Given the description of an element on the screen output the (x, y) to click on. 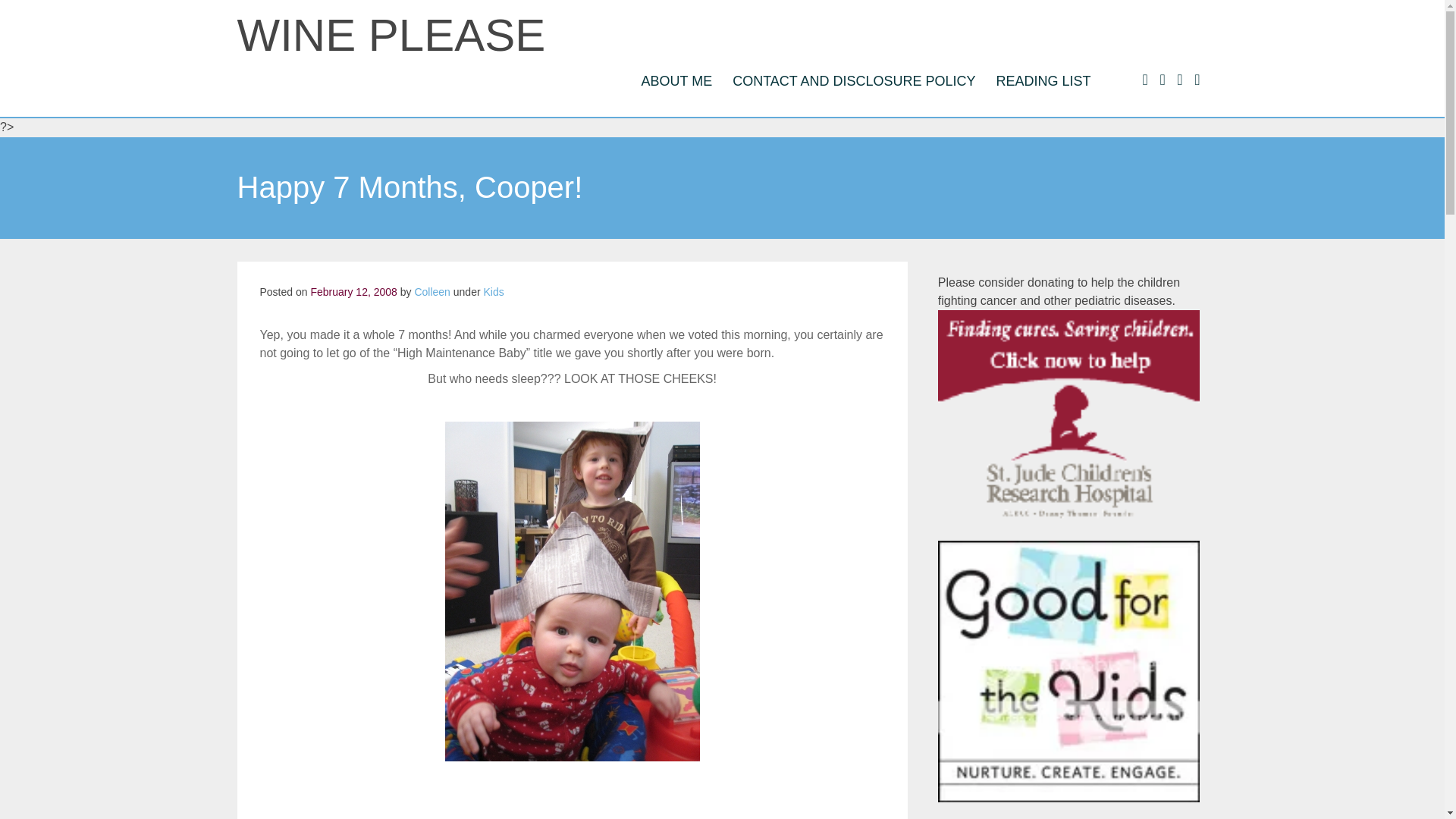
ABOUT ME (676, 80)
Colleen (431, 291)
WINE PLEASE (389, 34)
Kids (493, 291)
READING LIST (1042, 80)
CONTACT AND DISCLOSURE POLICY (853, 80)
